Given the description of an element on the screen output the (x, y) to click on. 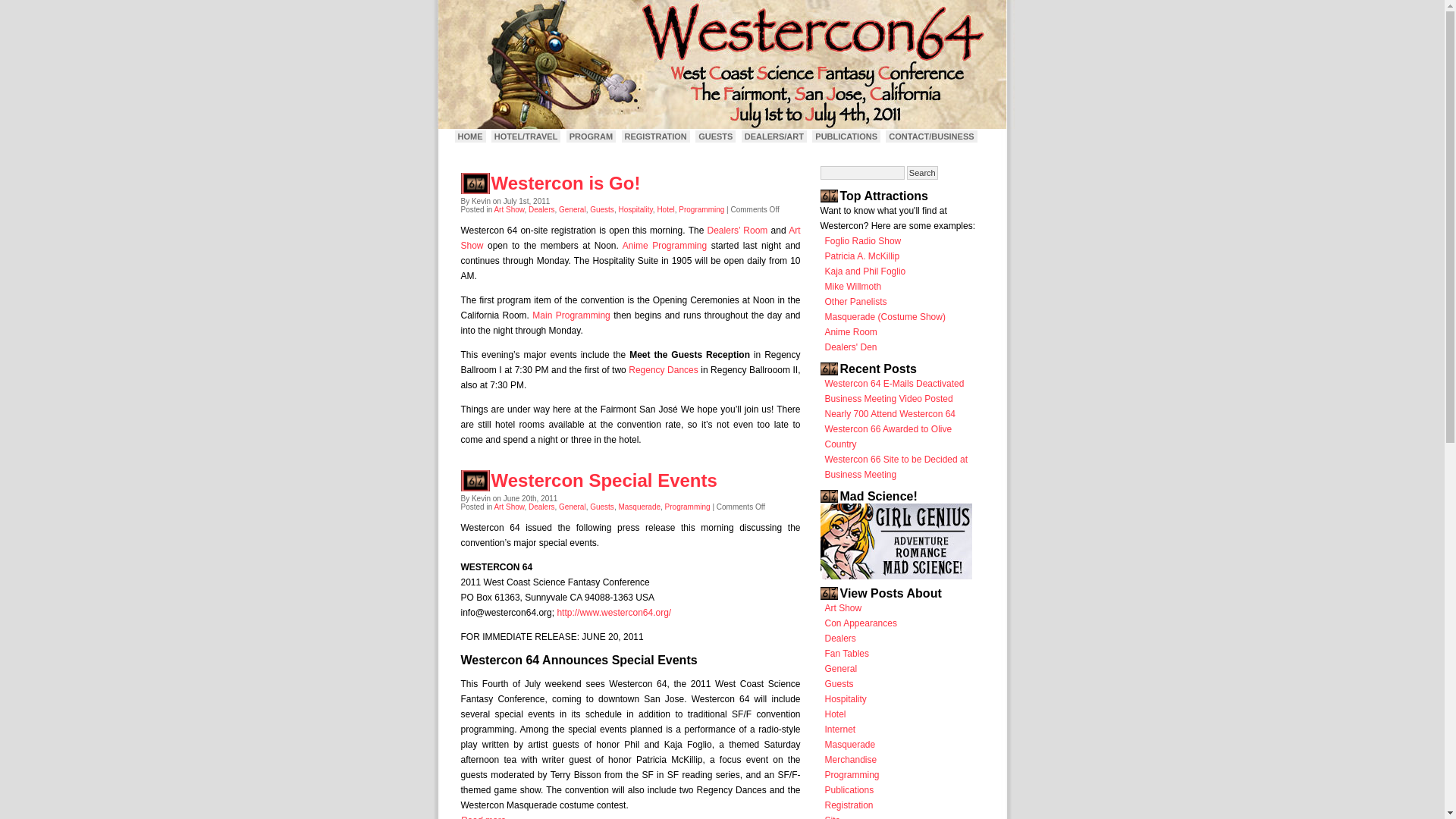
Hotel (665, 209)
PROGRAM (590, 136)
General (572, 506)
HOME (470, 136)
Dealers (541, 506)
Guests (601, 209)
PUBLICATIONS (846, 136)
Westercon is Go! (566, 182)
Main Programming (571, 315)
Guests (601, 506)
